Given the description of an element on the screen output the (x, y) to click on. 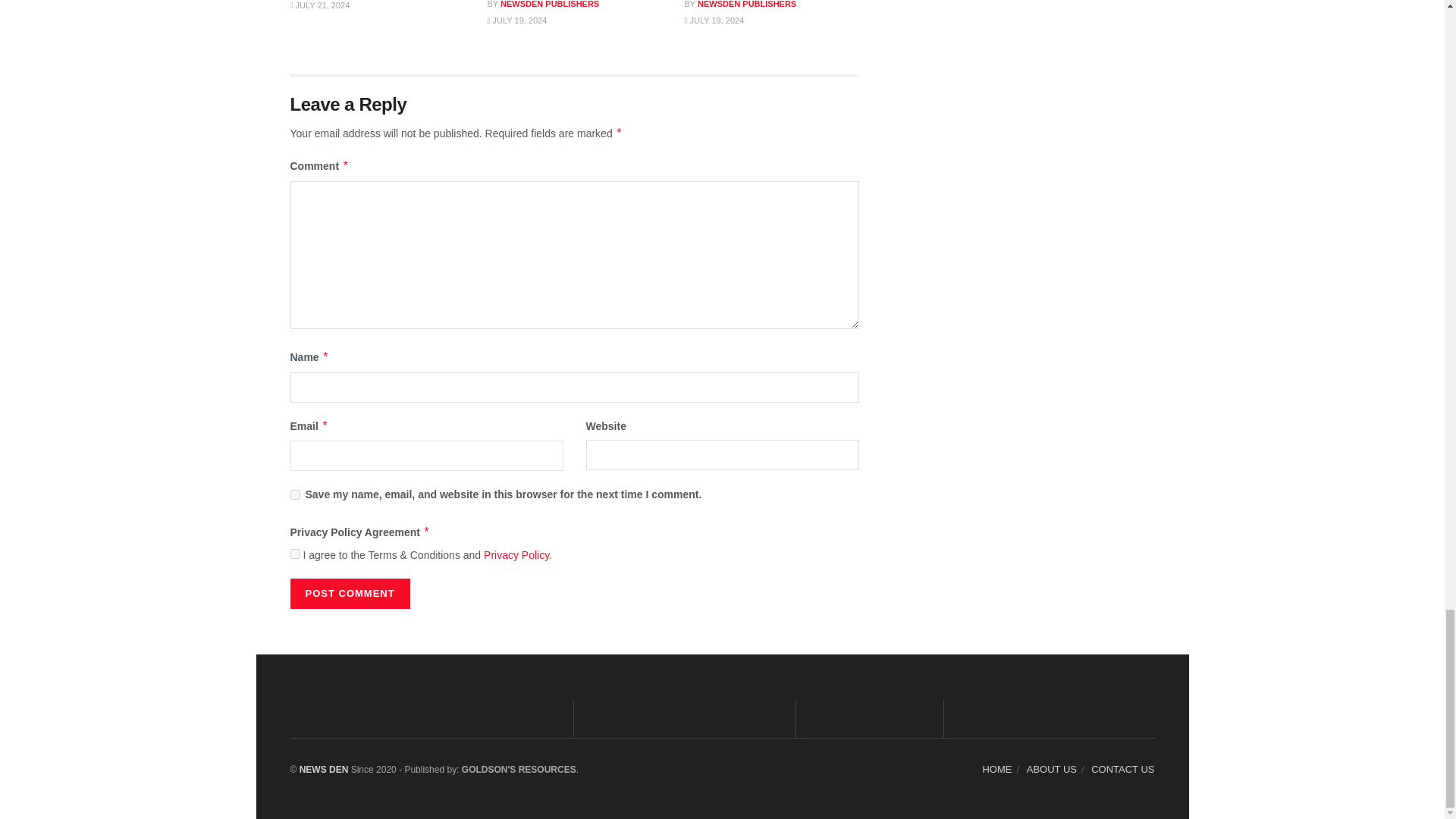
Post Comment (349, 593)
yes (294, 494)
on (294, 553)
